Given the description of an element on the screen output the (x, y) to click on. 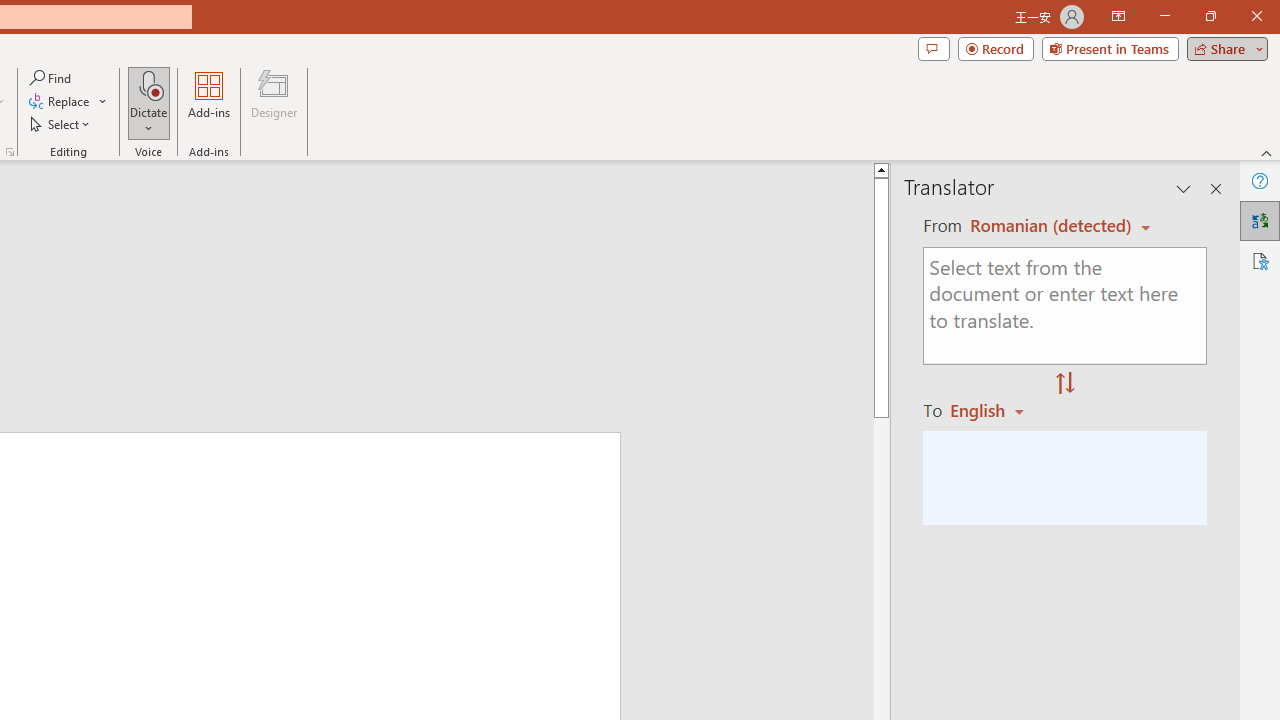
Find... (51, 78)
Dictate (149, 102)
Accessibility (1260, 260)
Translator (1260, 220)
Romanian (detected) (1047, 225)
Format Object... (9, 151)
Select (61, 124)
Designer (274, 102)
Swap "from" and "to" languages. (1065, 383)
Task Pane Options (1183, 188)
Minimize (1164, 16)
